Given the description of an element on the screen output the (x, y) to click on. 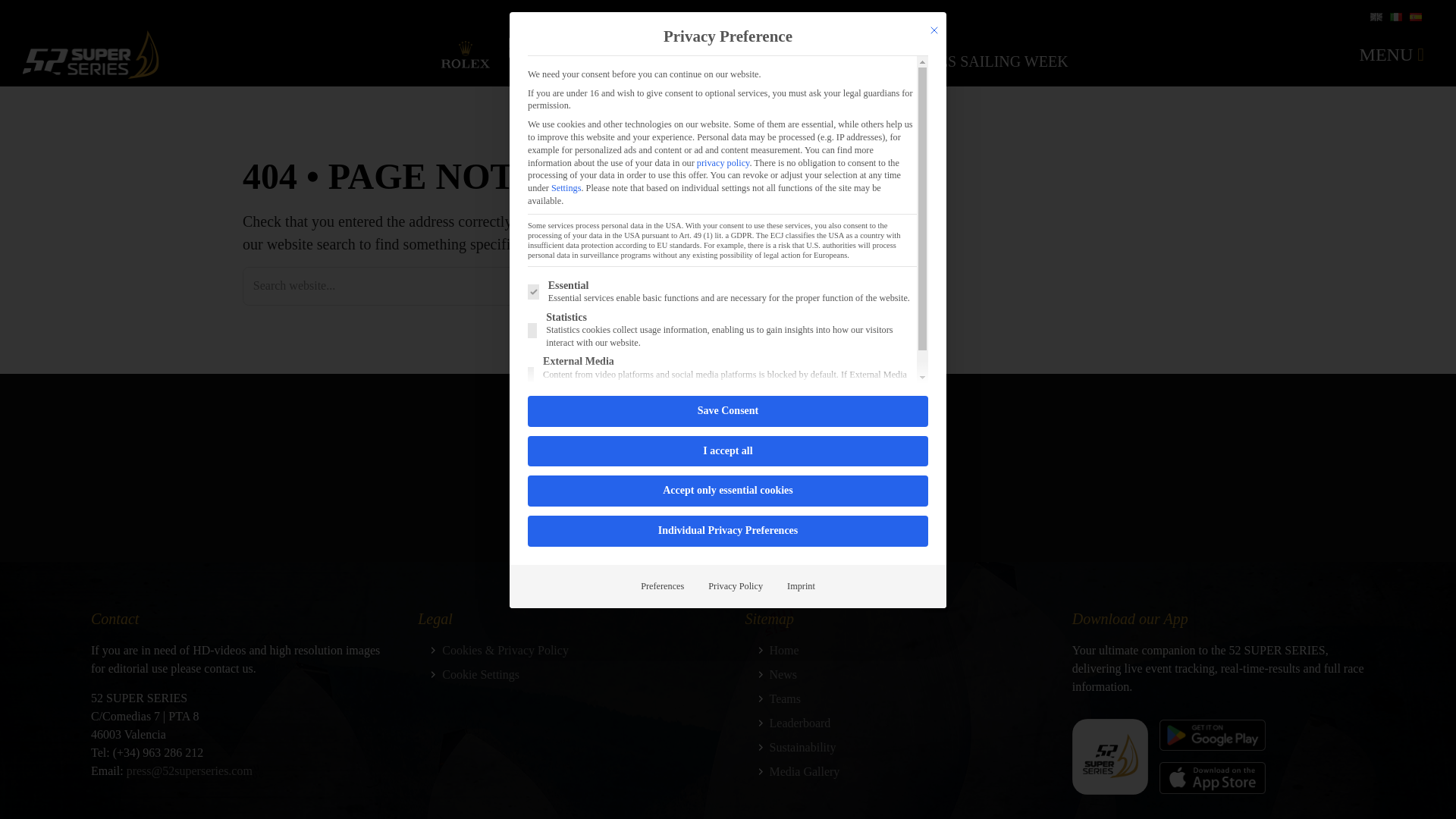
privacy policy (723, 163)
Home (782, 649)
Privacy Policy (734, 586)
Settings (565, 187)
Cookie Settings (480, 674)
MENU (1391, 54)
Accept only essential cookies (727, 490)
Imprint (800, 586)
Subscribe now (704, 519)
Menu (1391, 54)
News (782, 674)
I accept all (727, 450)
Teams (784, 698)
Preferences (661, 586)
Media Gallery (804, 771)
